Given the description of an element on the screen output the (x, y) to click on. 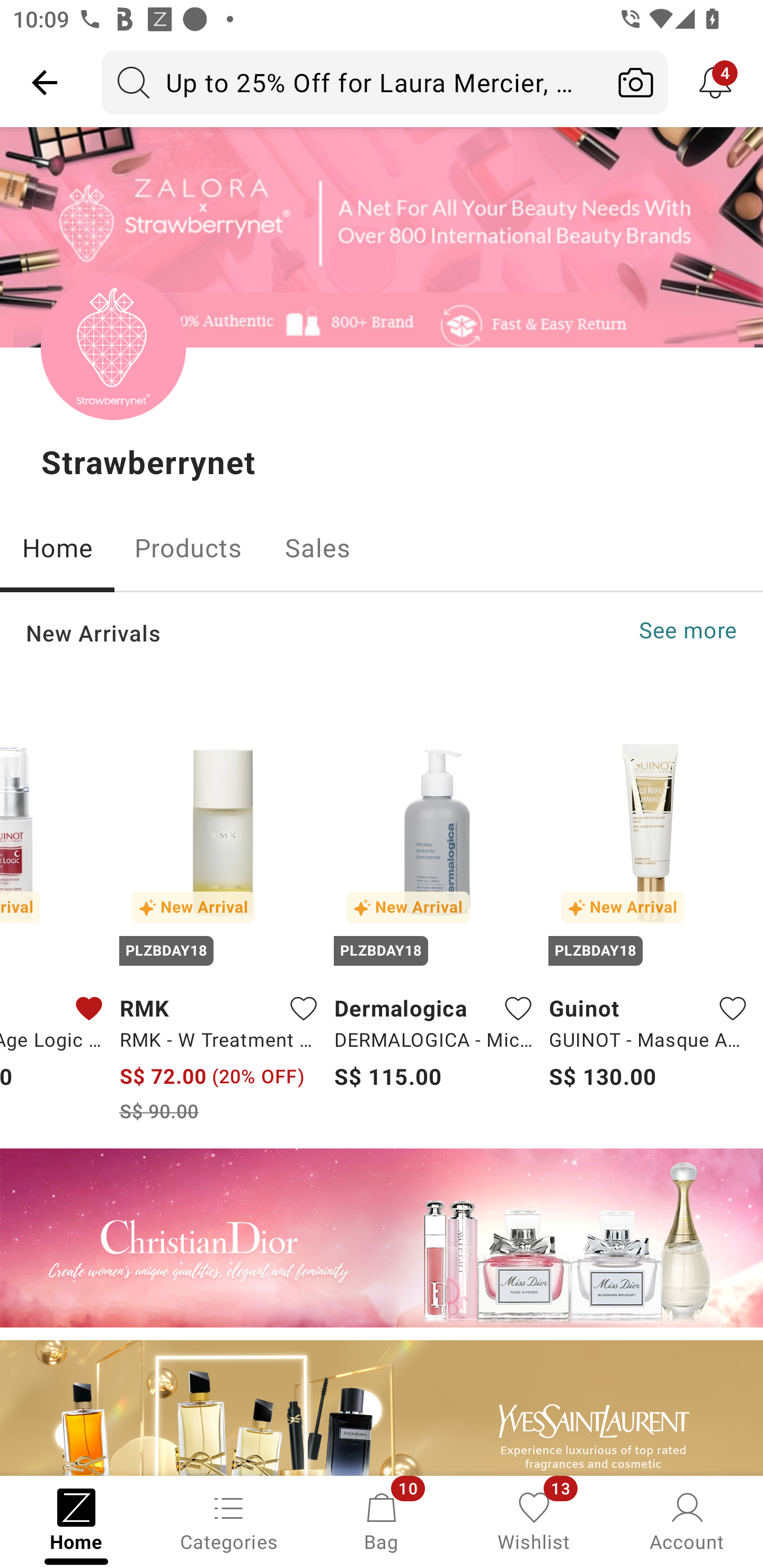
Navigate up (44, 82)
Products (187, 547)
Sales (317, 547)
See more (687, 630)
Categories (228, 1519)
Bag, 10 new notifications Bag (381, 1519)
Wishlist, 13 new notifications Wishlist (533, 1519)
Account (686, 1519)
